Given the description of an element on the screen output the (x, y) to click on. 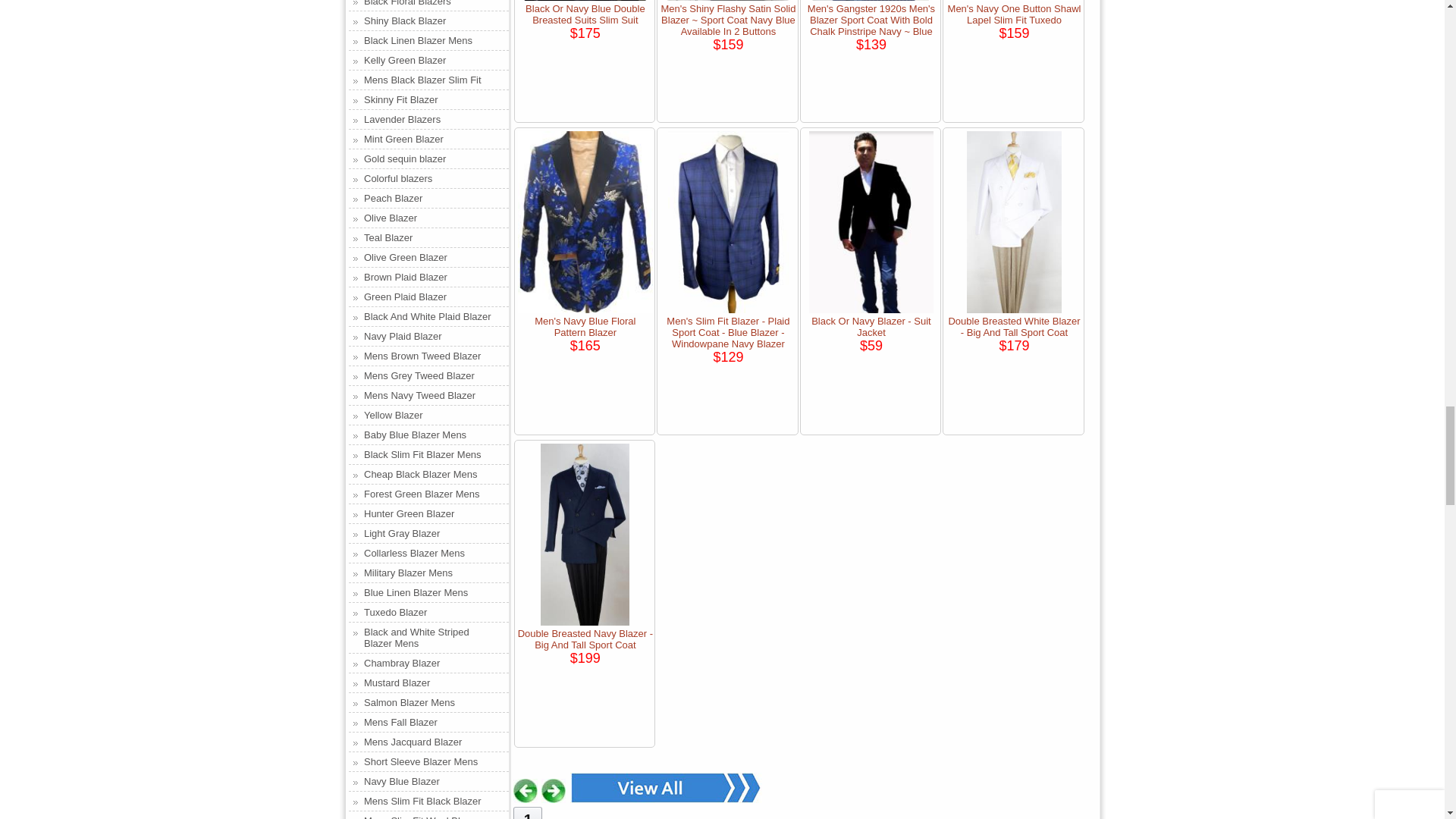
Previous (525, 790)
Next (553, 790)
View all (665, 788)
